Given the description of an element on the screen output the (x, y) to click on. 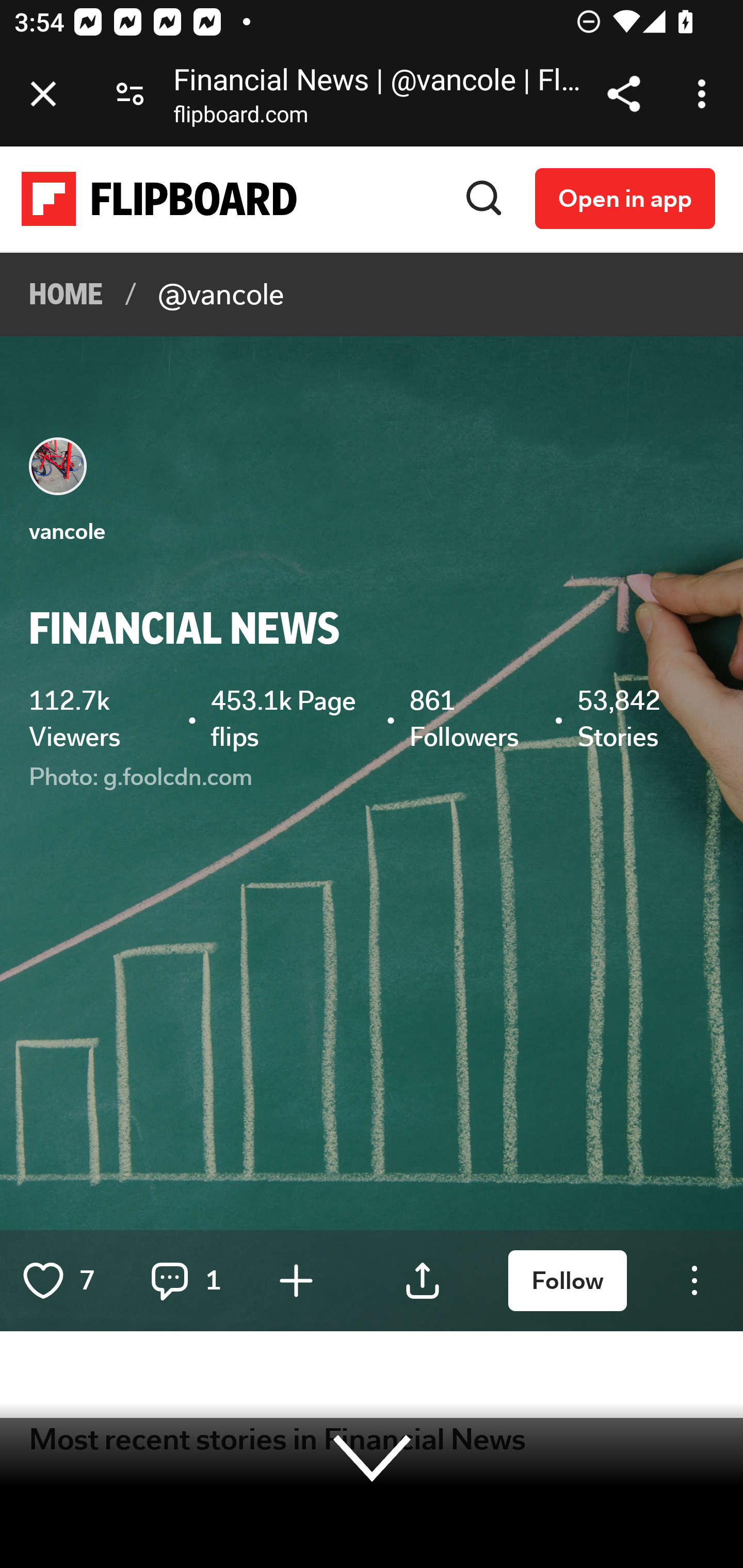
Close tab (43, 93)
Share link address (623, 93)
Customize and control Google Chrome (705, 93)
Connection is secure (129, 93)
flipboard.com (240, 117)
Open in app (625, 197)
Search (484, 198)
HOME (66, 294)
@vancole (220, 294)
Avatar - vancole (58, 466)
vancole (67, 531)
Like (43, 1280)
comment (170, 1280)
Flip (296, 1280)
Share (422, 1280)
Menu (694, 1279)
Follow (567, 1280)
Expand (372, 1457)
